Given the description of an element on the screen output the (x, y) to click on. 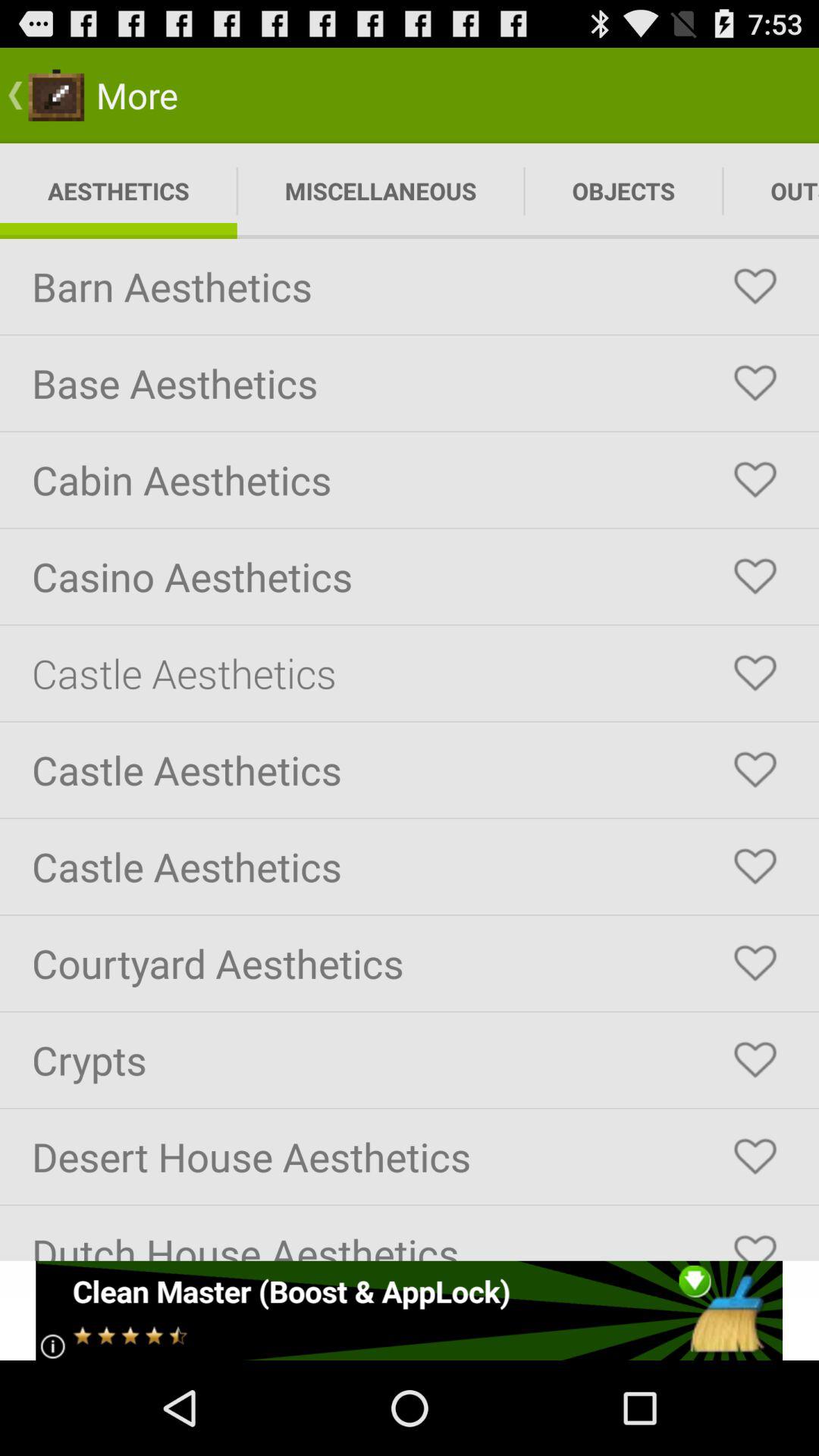
cabinaesthetics (755, 479)
